Given the description of an element on the screen output the (x, y) to click on. 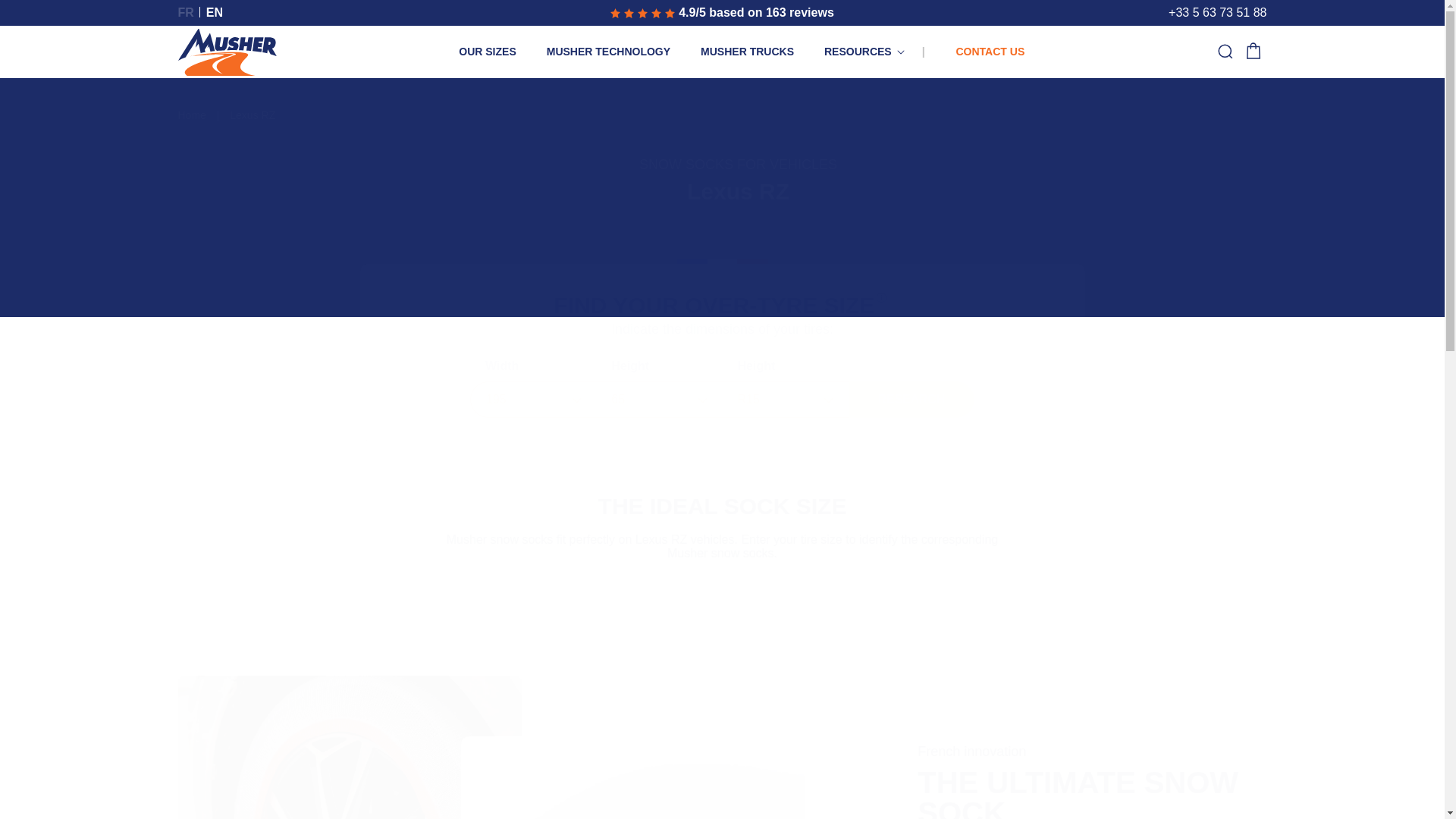
THE IDEAL SOCK SIZE (721, 506)
SKIP TO CONTENT (45, 18)
FR (737, 180)
EN (185, 12)
MUSHER TRUCKS (214, 12)
OUR SIZES (747, 51)
Back to the homepage (487, 51)
MUSHER TECHNOLOGY (191, 114)
